Given the description of an element on the screen output the (x, y) to click on. 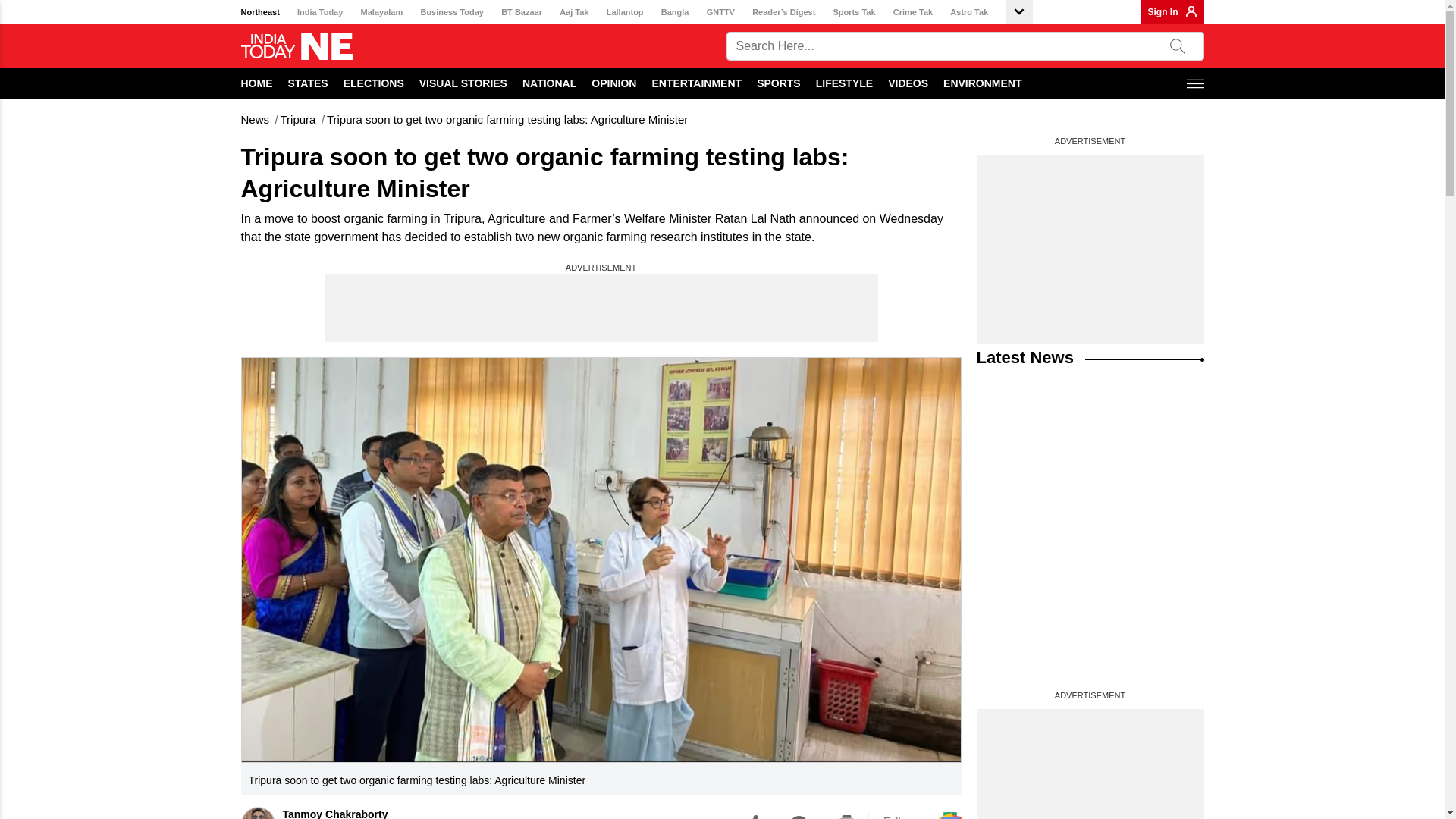
Bangla (674, 12)
Lallantop (625, 12)
Business Today (451, 12)
Sports Tak (854, 12)
STATES (308, 82)
OPINION (613, 82)
India Today (319, 12)
VISUAL STORIES (462, 82)
Malayalam (382, 12)
Malayalam (382, 12)
Northeast (260, 12)
Business Today (451, 12)
ELECTIONS (373, 82)
ENTERTAINMENT (695, 82)
GNTTV (720, 12)
